Given the description of an element on the screen output the (x, y) to click on. 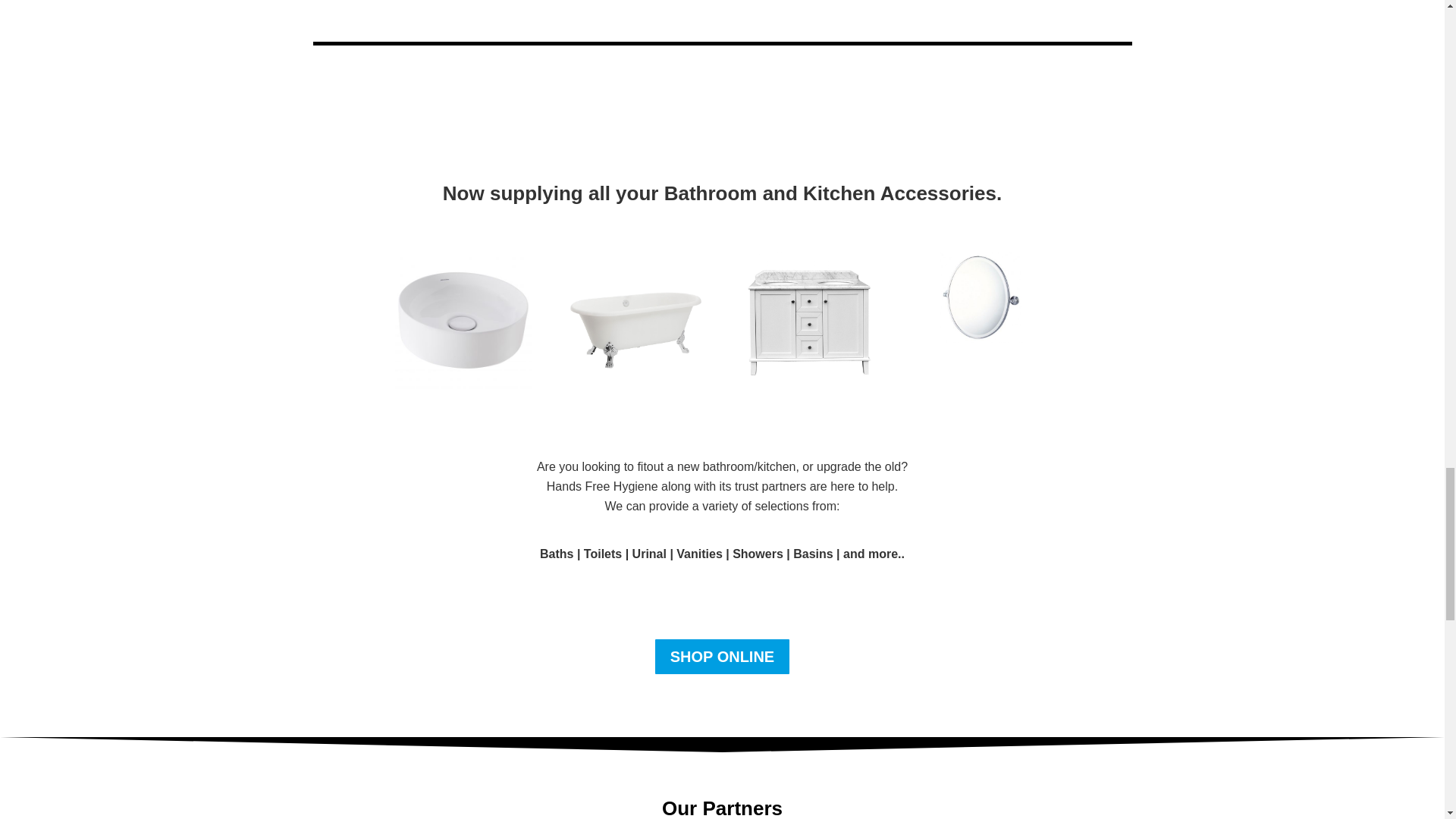
vanity (807, 321)
bath (635, 319)
mirror (980, 297)
Basin (462, 319)
